Given the description of an element on the screen output the (x, y) to click on. 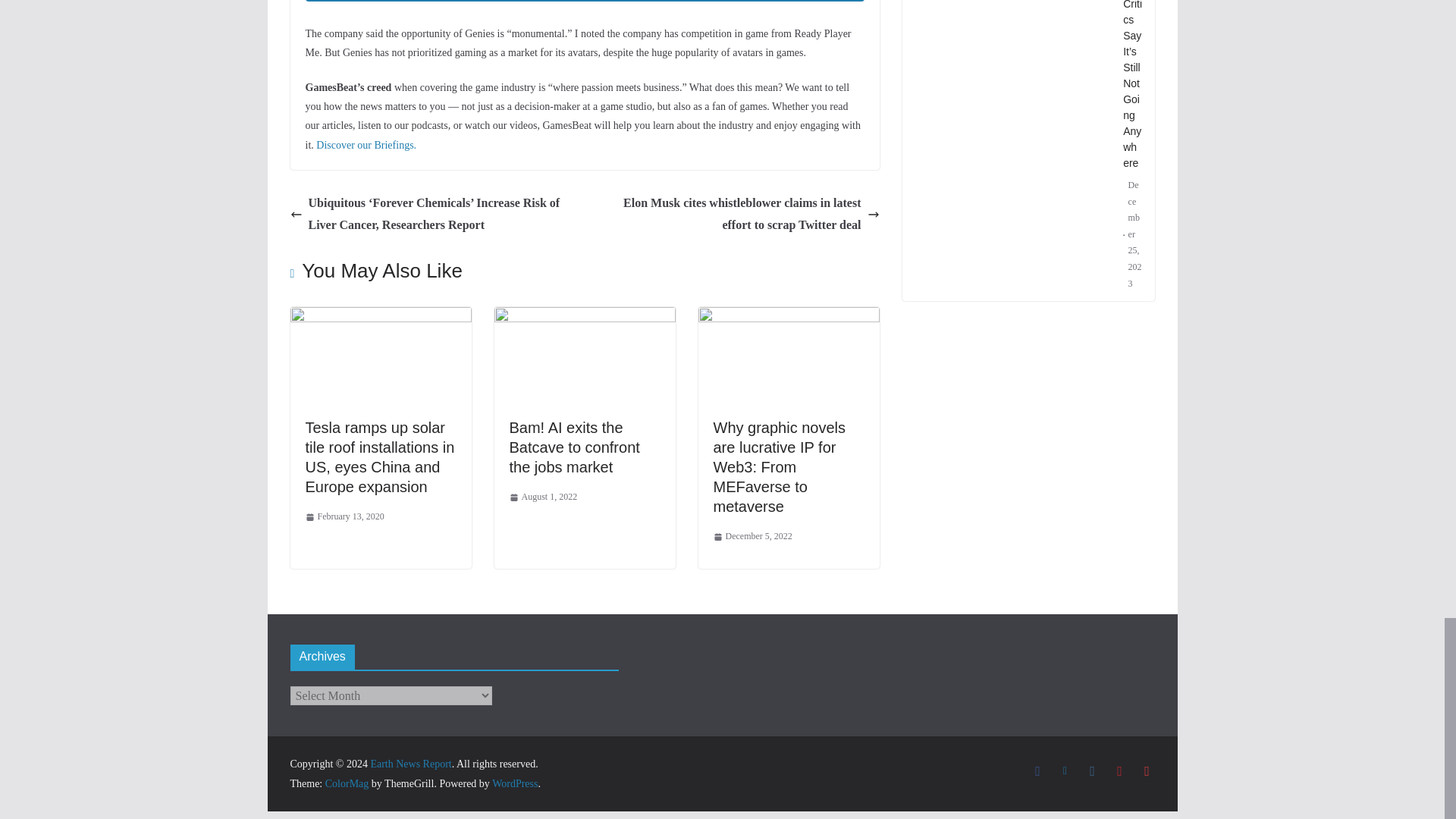
Discover our Briefings. (365, 144)
Bam! AI exits the Batcave to confront the jobs market (574, 447)
February 13, 2020 (344, 516)
Bam! AI exits the Batcave to confront the jobs market (585, 317)
Bam! AI exits the Batcave to confront the jobs market (574, 447)
10:52 am (543, 497)
